Given the description of an element on the screen output the (x, y) to click on. 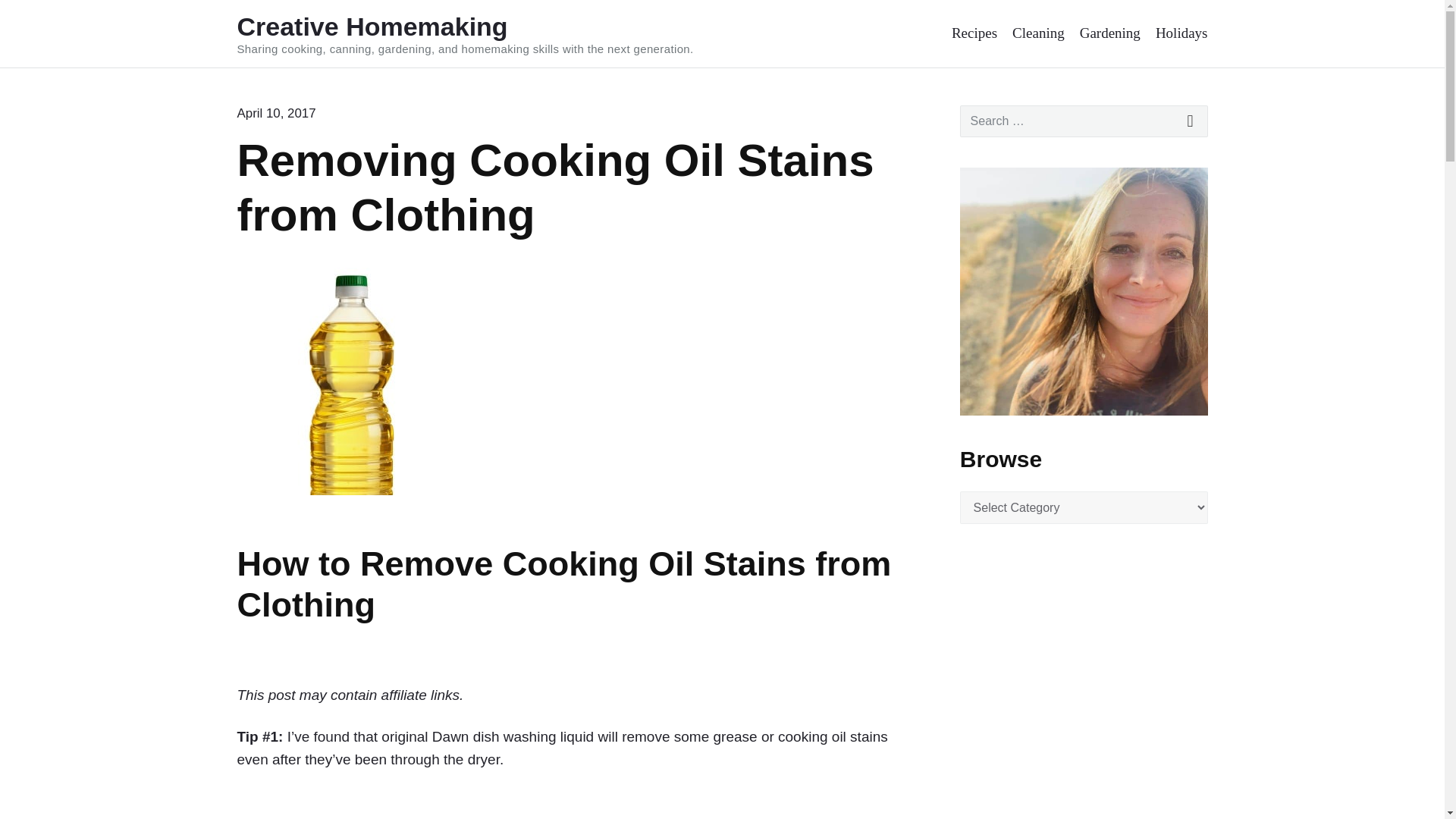
Monday, April 10, 2017, 10:04 pm (275, 113)
Gardening (1110, 33)
Cleaning (1037, 33)
Recipes (974, 33)
Holidays (1182, 33)
Search for: (1083, 121)
